Given the description of an element on the screen output the (x, y) to click on. 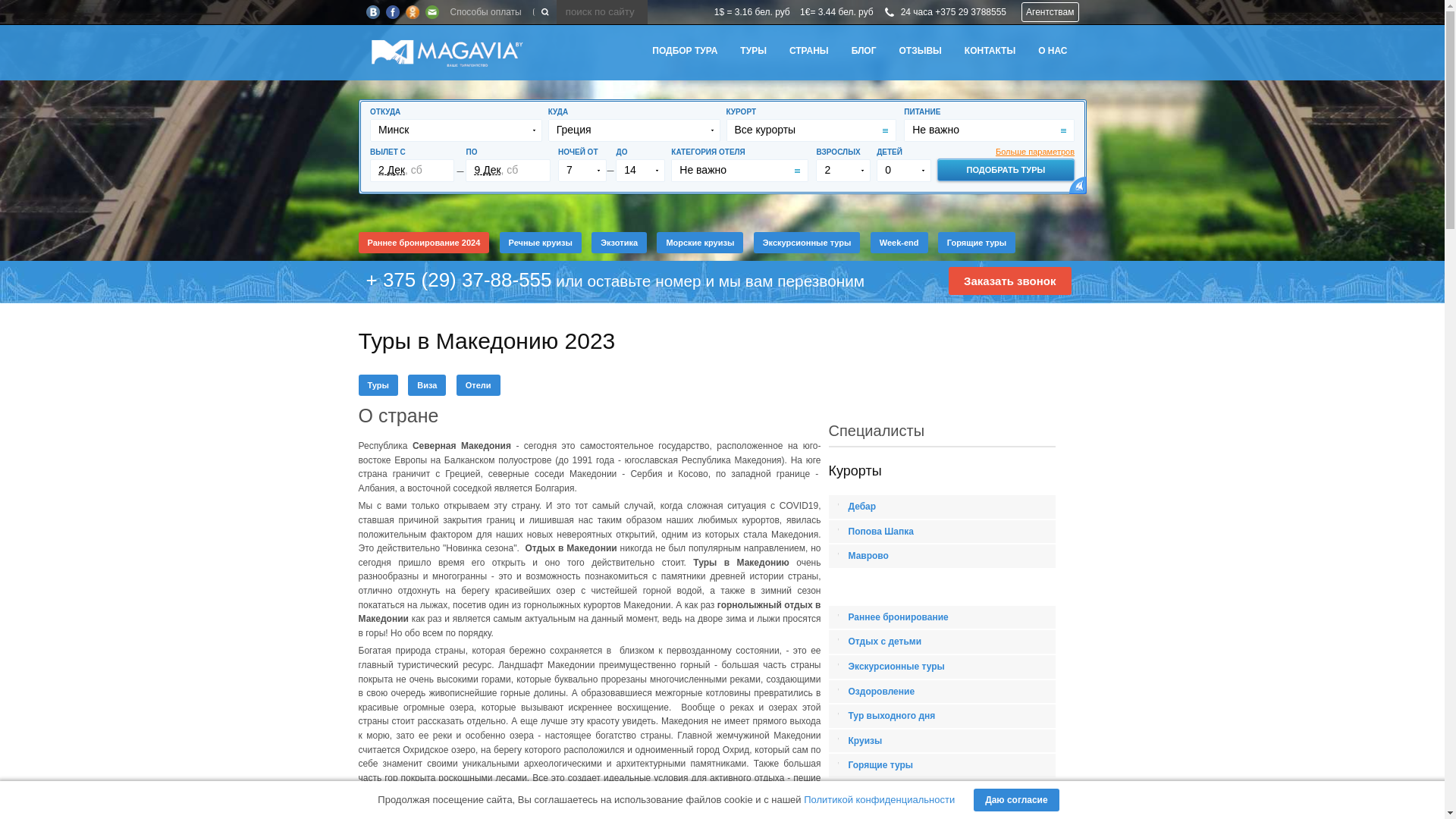
Week-end Element type: text (899, 242)
+375 29 3788555 Element type: text (970, 11)
